Given the description of an element on the screen output the (x, y) to click on. 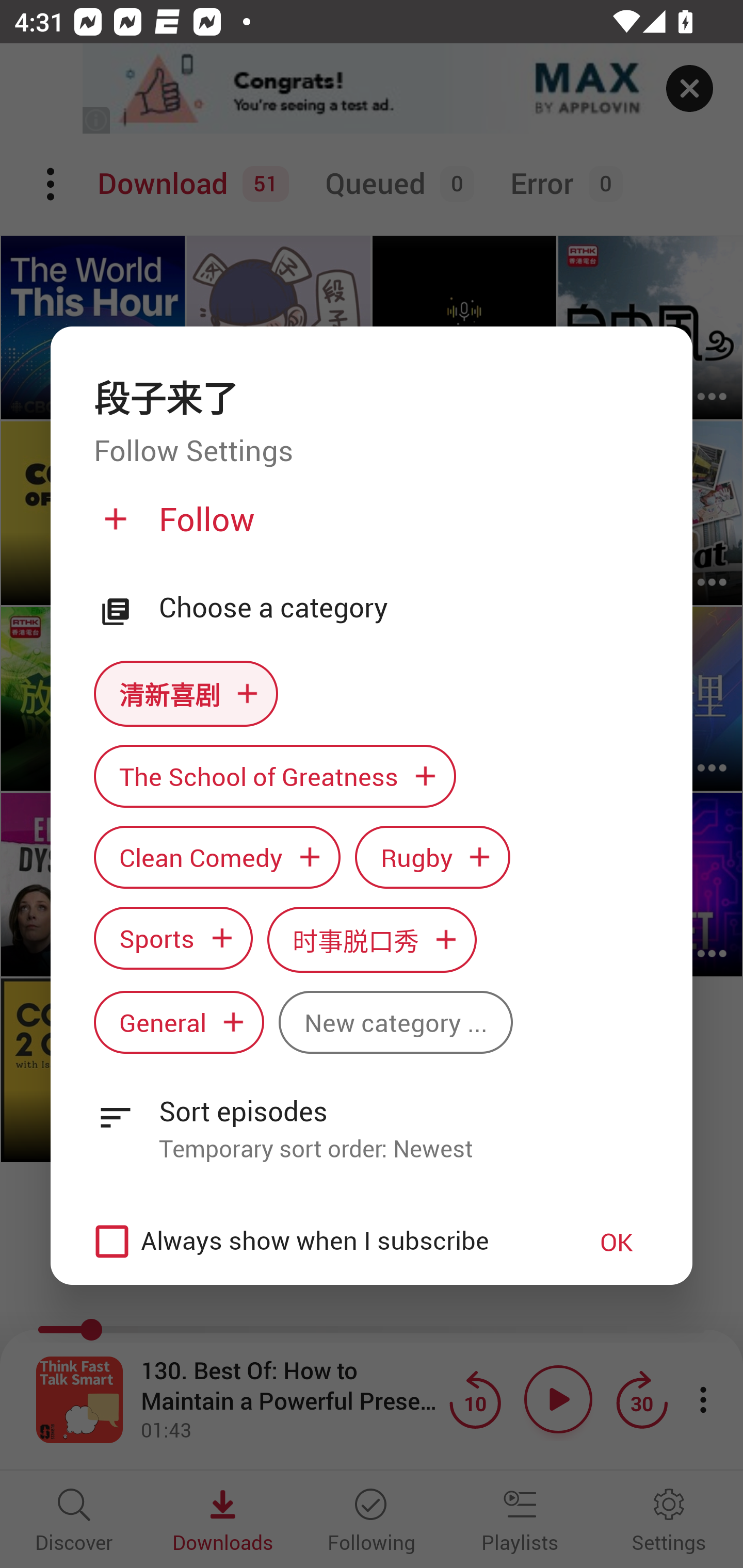
Follow (369, 526)
Choose a category (404, 608)
清新喜剧 (185, 692)
The School of Greatness (274, 775)
Clean Comedy (216, 857)
Rugby (432, 857)
Sports (172, 937)
时事脱口秀 (372, 939)
General (178, 1021)
New category ... (395, 1021)
Sort episodes Temporary sort order: Newest (371, 1118)
OK (616, 1240)
Always show when I subscribe (320, 1241)
